Given the description of an element on the screen output the (x, y) to click on. 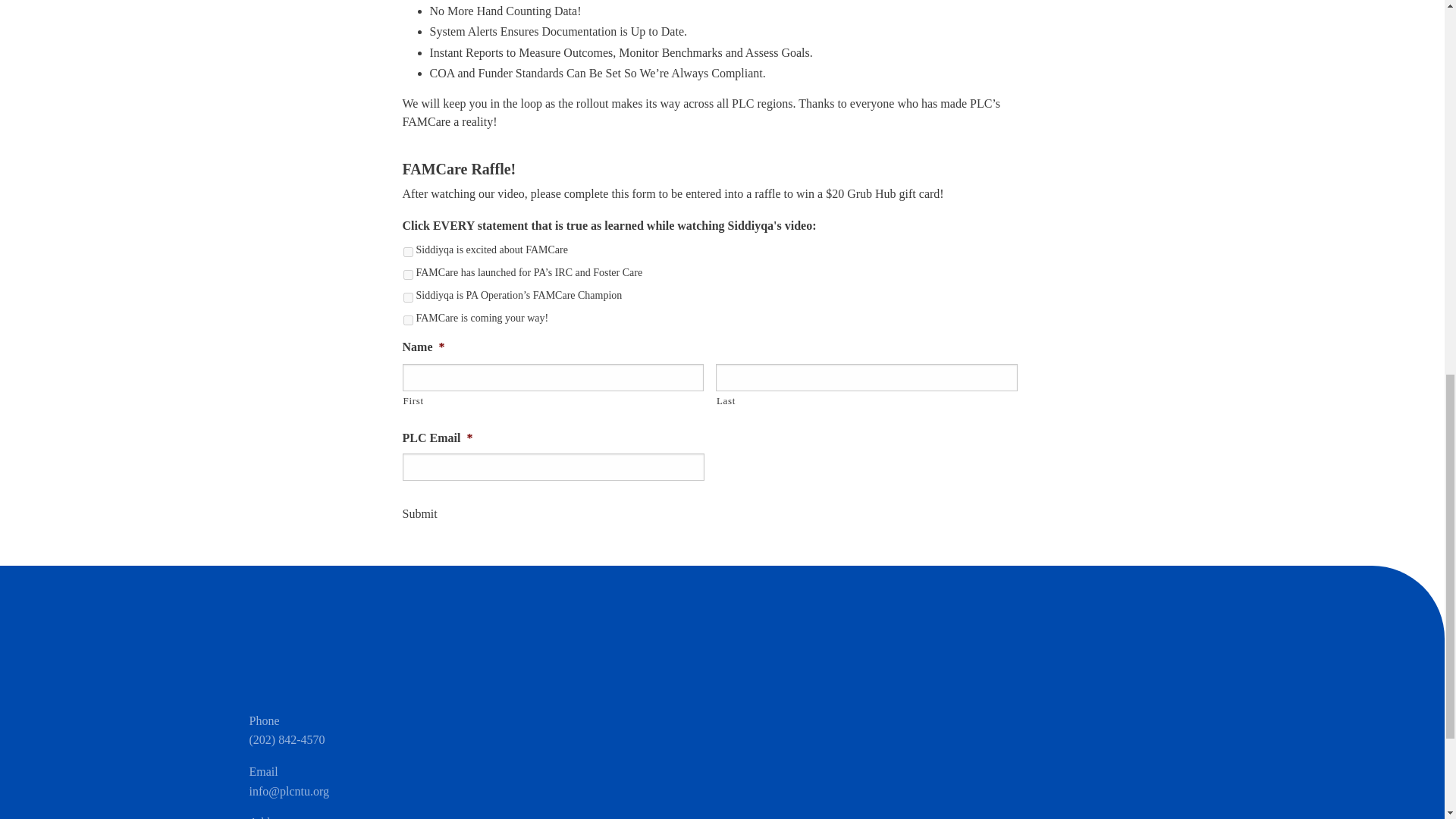
Siddiyqa is excited about FAMCare (408, 252)
FAMCare has launched for PA's IRC and Foster Care (408, 275)
FAMCare is coming your way! (408, 320)
Submit (418, 514)
Siddiyqa is PA Operation's FAMCare Champion (408, 297)
Submit (418, 514)
